Given the description of an element on the screen output the (x, y) to click on. 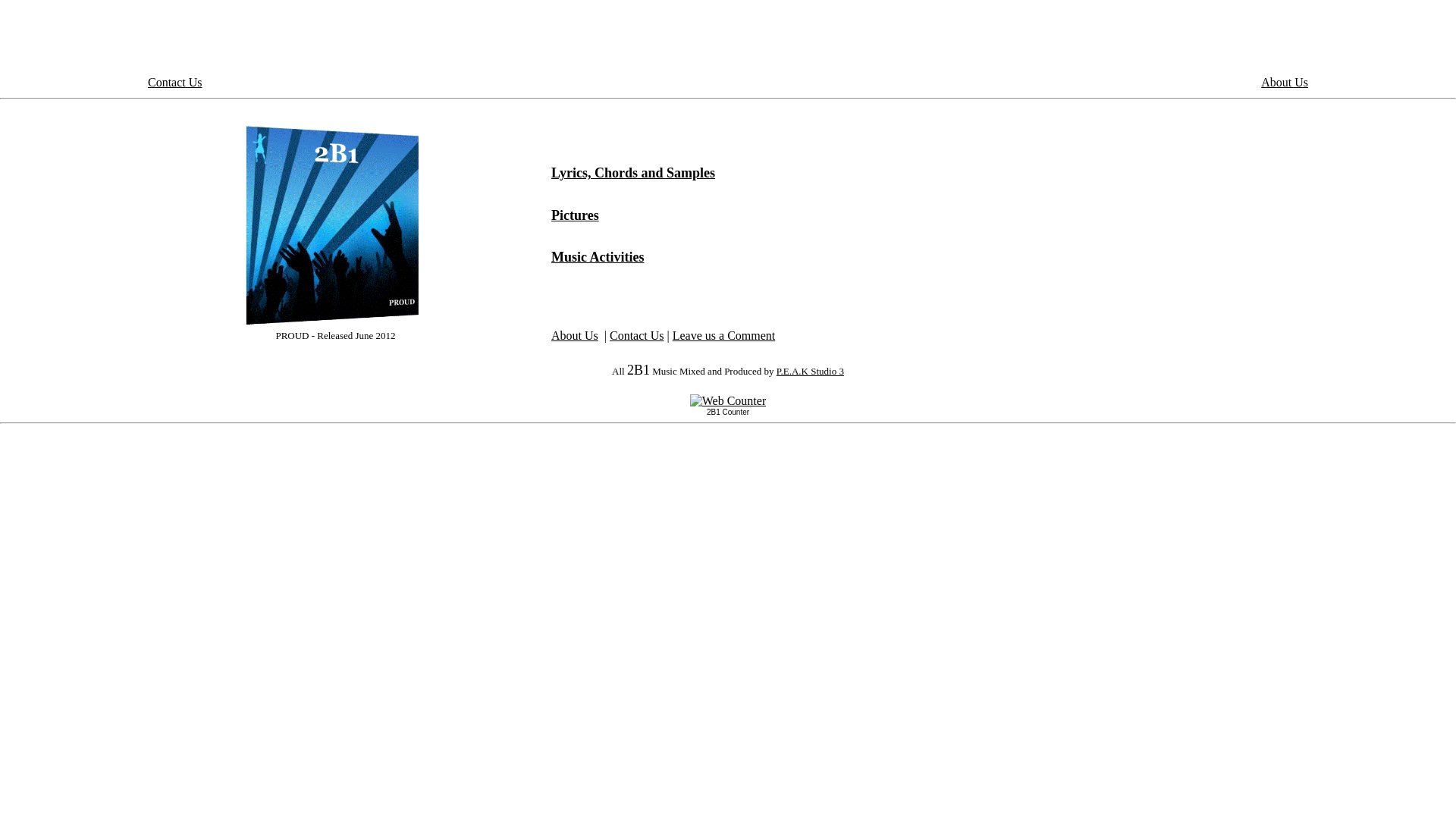
Leave us a Comment Element type: text (723, 335)
Contact Us Element type: text (636, 335)
About Us Element type: text (1284, 81)
P.E.A.K Studio 3 Element type: text (810, 370)
Pictures Element type: text (575, 214)
Music Activities Element type: text (597, 256)
2B1 Counter Element type: text (727, 411)
Lyrics, Chords and Samples Element type: text (633, 172)
About Us Element type: text (574, 335)
Contact Us Element type: text (174, 81)
